Given the description of an element on the screen output the (x, y) to click on. 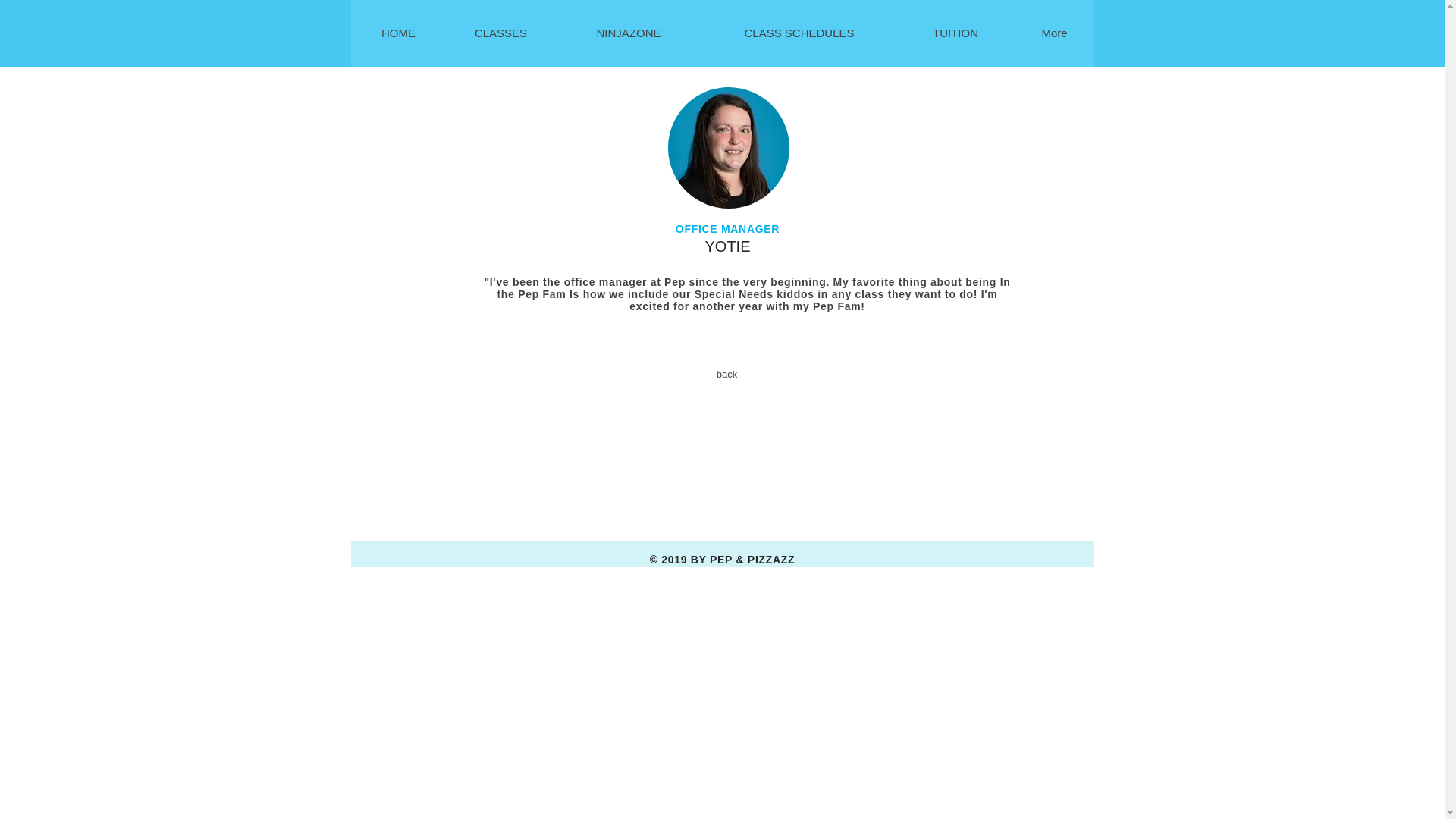
NINJAZONE (627, 33)
TUITION (954, 33)
HOME (398, 33)
CLASS SCHEDULES (798, 33)
back (726, 374)
CLASSES (500, 33)
